Given the description of an element on the screen output the (x, y) to click on. 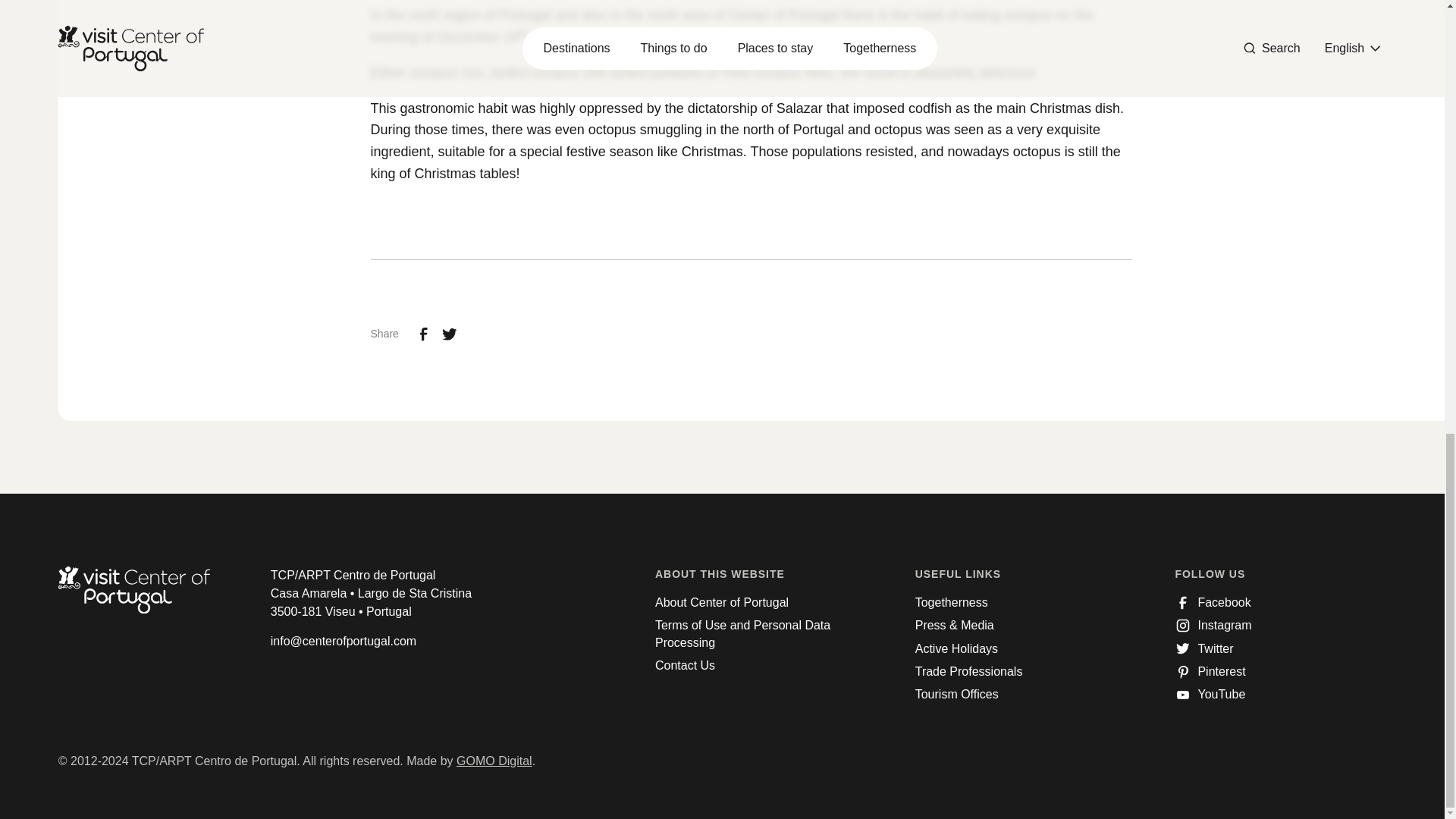
Togetherness (951, 602)
Facebook (1212, 602)
Twitter (1203, 648)
GOMO Digital (494, 760)
YouTube (1209, 694)
Tourism Offices (956, 694)
About Center of Portugal (722, 602)
Active Holidays (956, 648)
Contact Us (684, 665)
Terms of Use and Personal Data Processing (760, 634)
